Given the description of an element on the screen output the (x, y) to click on. 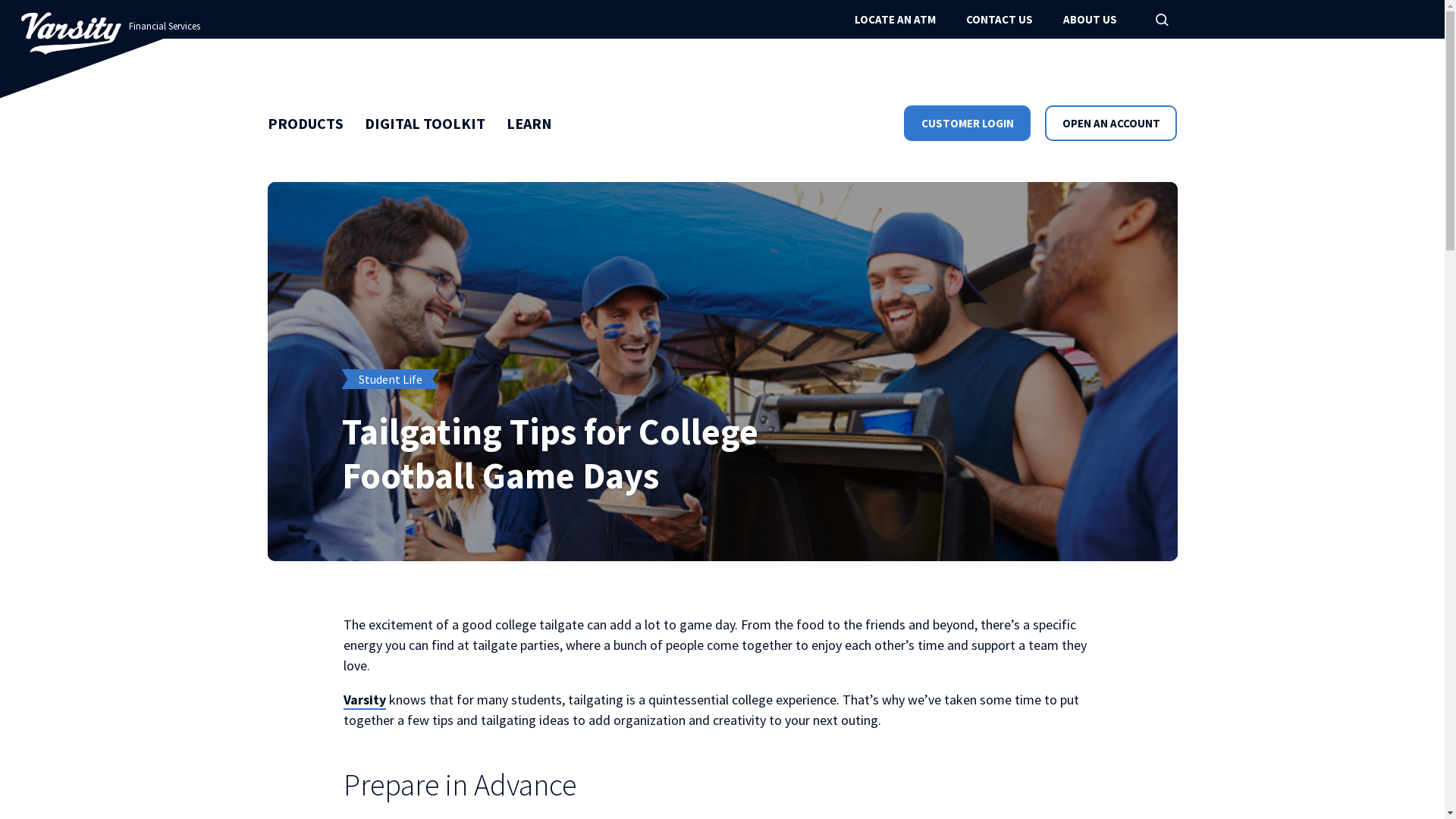
Varsity Element type: text (363, 699)
ABOUT US Element type: text (1090, 19)
LOCATE AN ATM Element type: text (894, 19)
LEARN Element type: text (529, 123)
OPEN AN ACCOUNT Element type: text (1110, 123)
CONTACT US Element type: text (999, 19)
CUSTOMER LOGIN Element type: text (966, 123)
PRODUCTS Element type: text (304, 123)
DIGITAL TOOLKIT Element type: text (424, 123)
Varsity Bank
Financial Services Element type: text (71, 33)
